Given the description of an element on the screen output the (x, y) to click on. 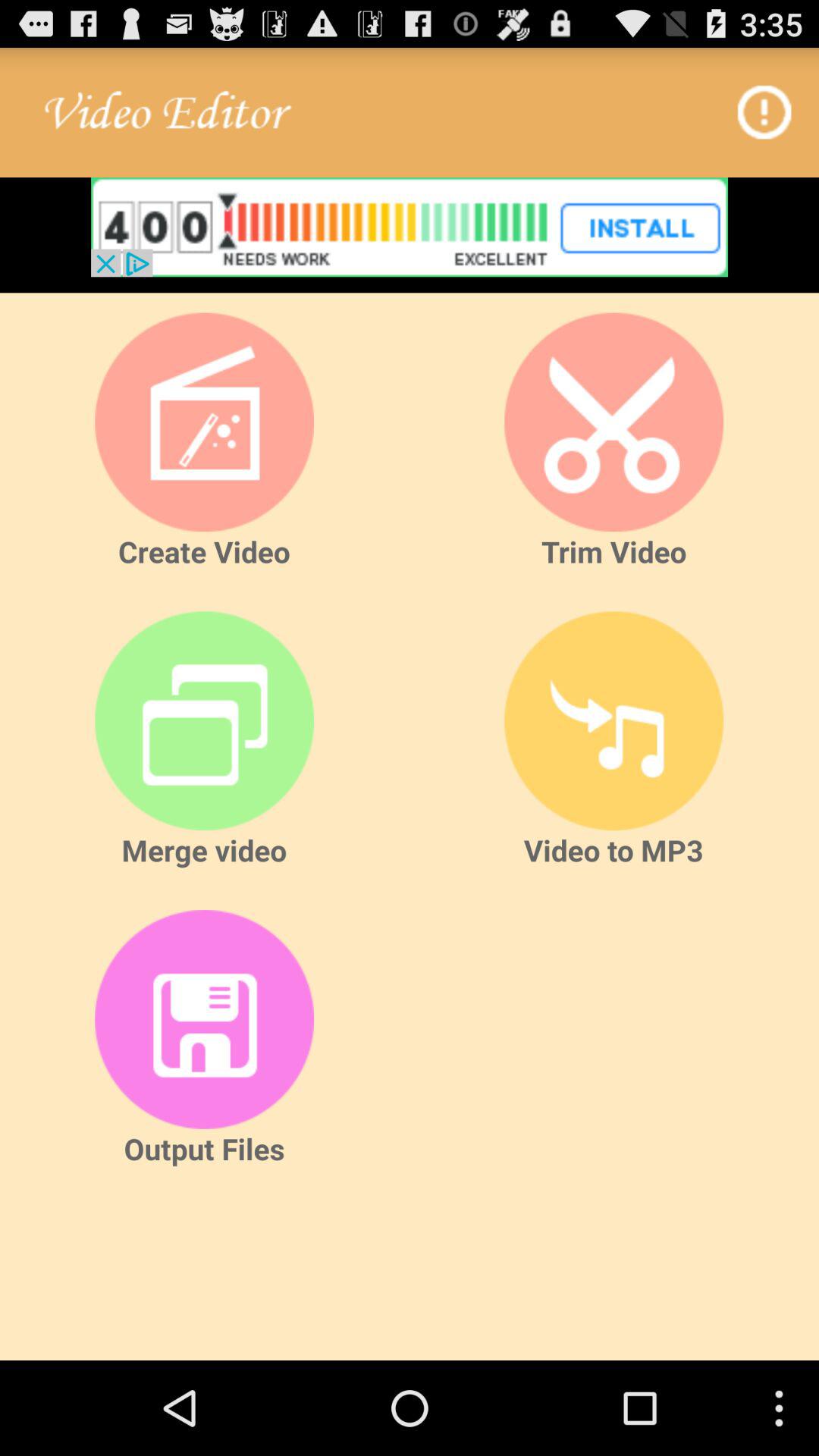
open info (765, 112)
